Given the description of an element on the screen output the (x, y) to click on. 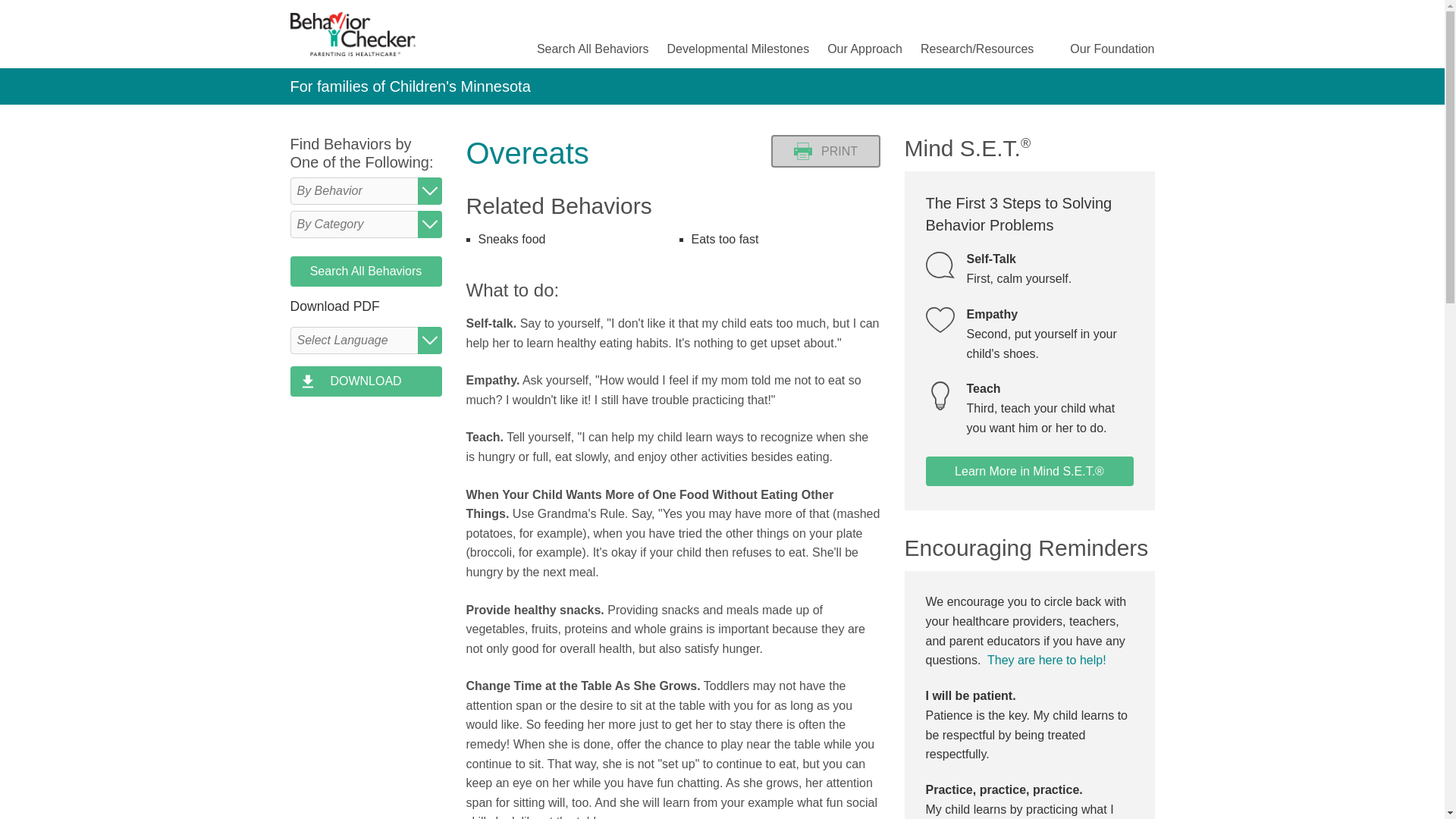
Search All Behaviors (593, 48)
Developmental Milestones (737, 48)
Home Site Listing (1046, 659)
Search All Behaviors (365, 271)
They are here to help! (1046, 659)
PRINT (824, 151)
DOWNLOAD (365, 381)
Our Approach (864, 48)
Our Foundation (1112, 48)
